Given the description of an element on the screen output the (x, y) to click on. 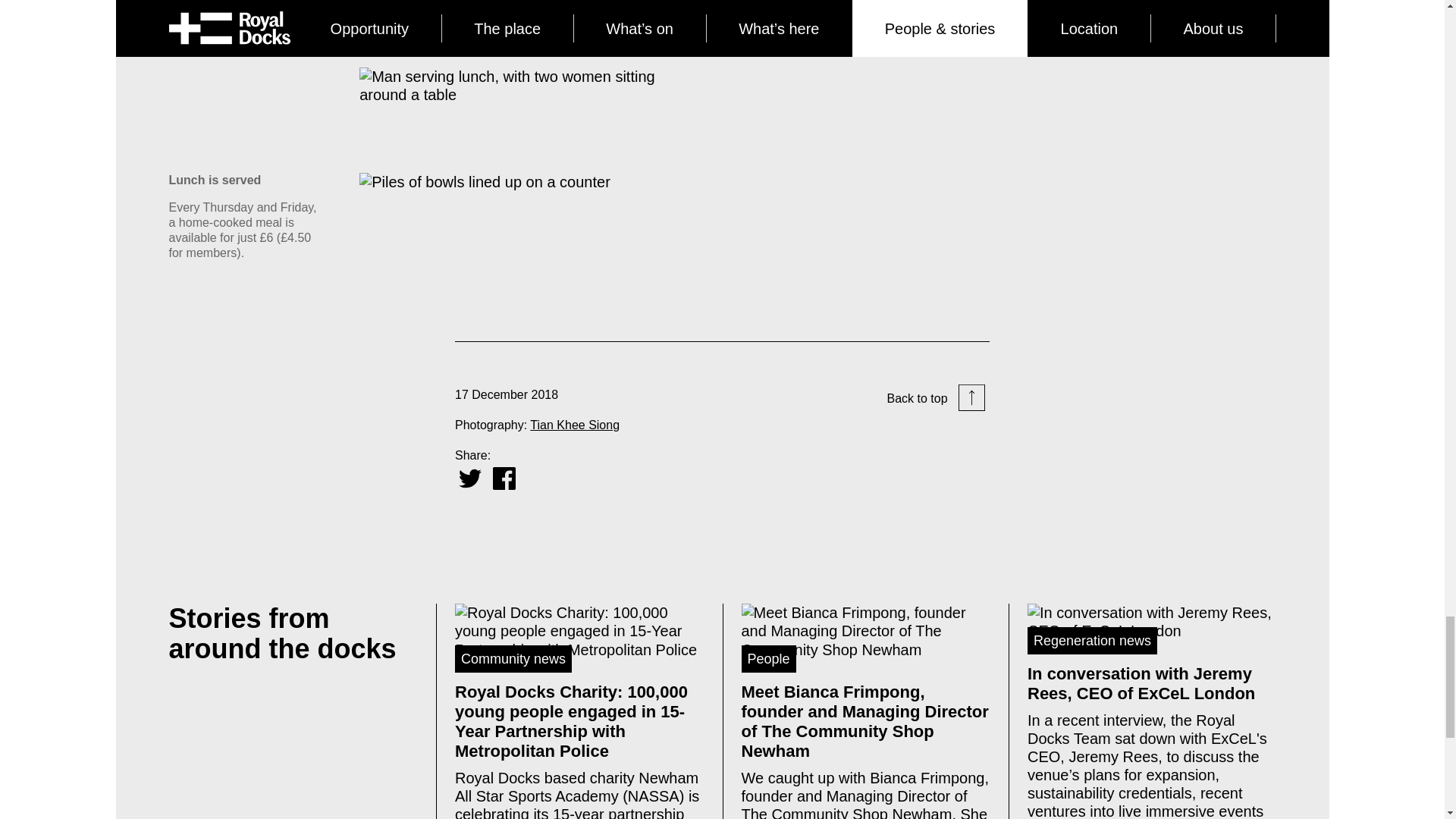
Tian Khee Siong (574, 424)
Back to top (936, 399)
